Given the description of an element on the screen output the (x, y) to click on. 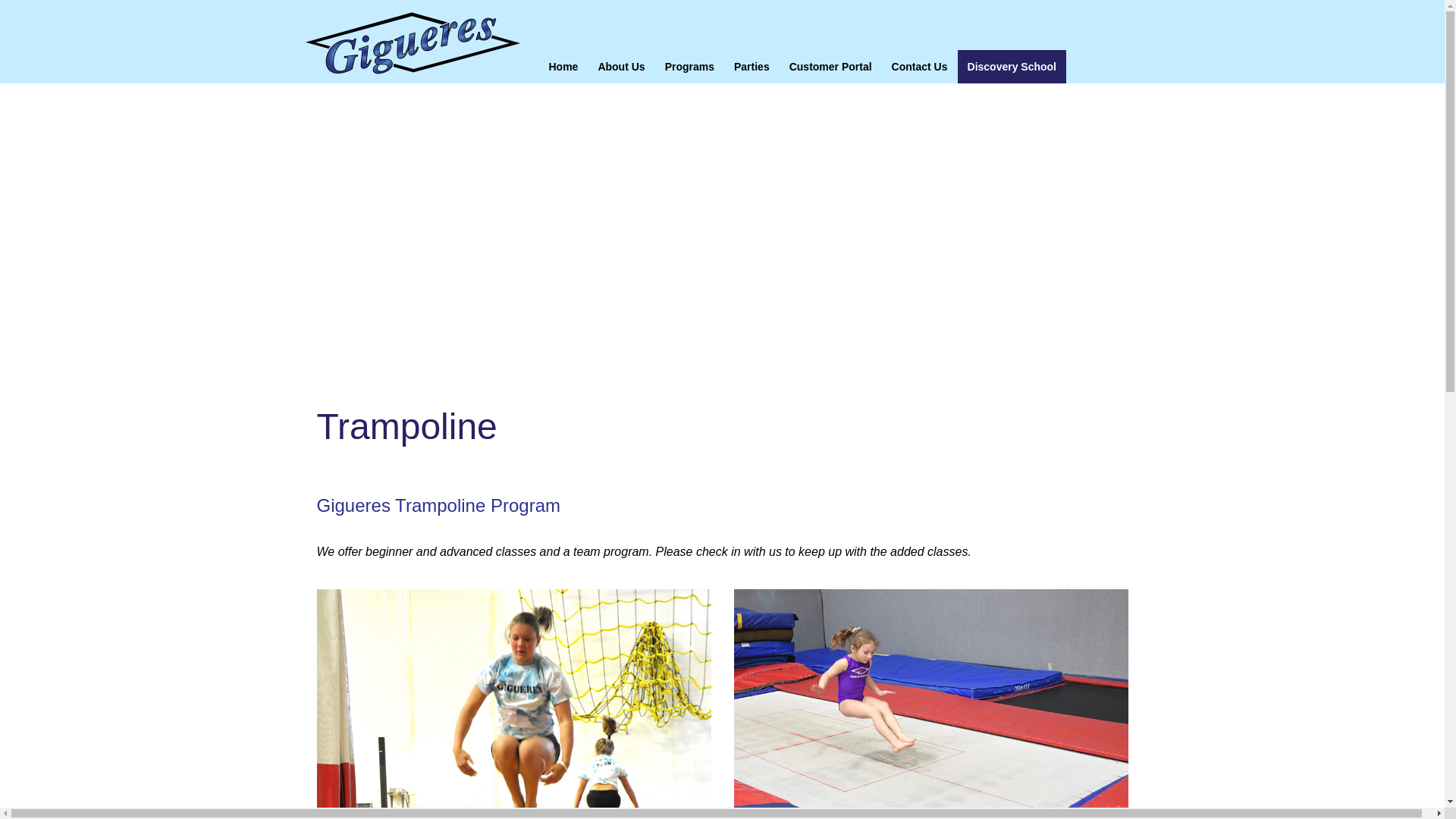
Home (563, 66)
Gigueres Gym (411, 42)
Programs (689, 66)
beginnertrampoline-scaled2 (930, 703)
About Us (620, 66)
Contact Us (920, 66)
Gigueres Gym (411, 42)
Trampoline-AdvancedSmaller (514, 703)
Customer Portal (830, 66)
